Given the description of an element on the screen output the (x, y) to click on. 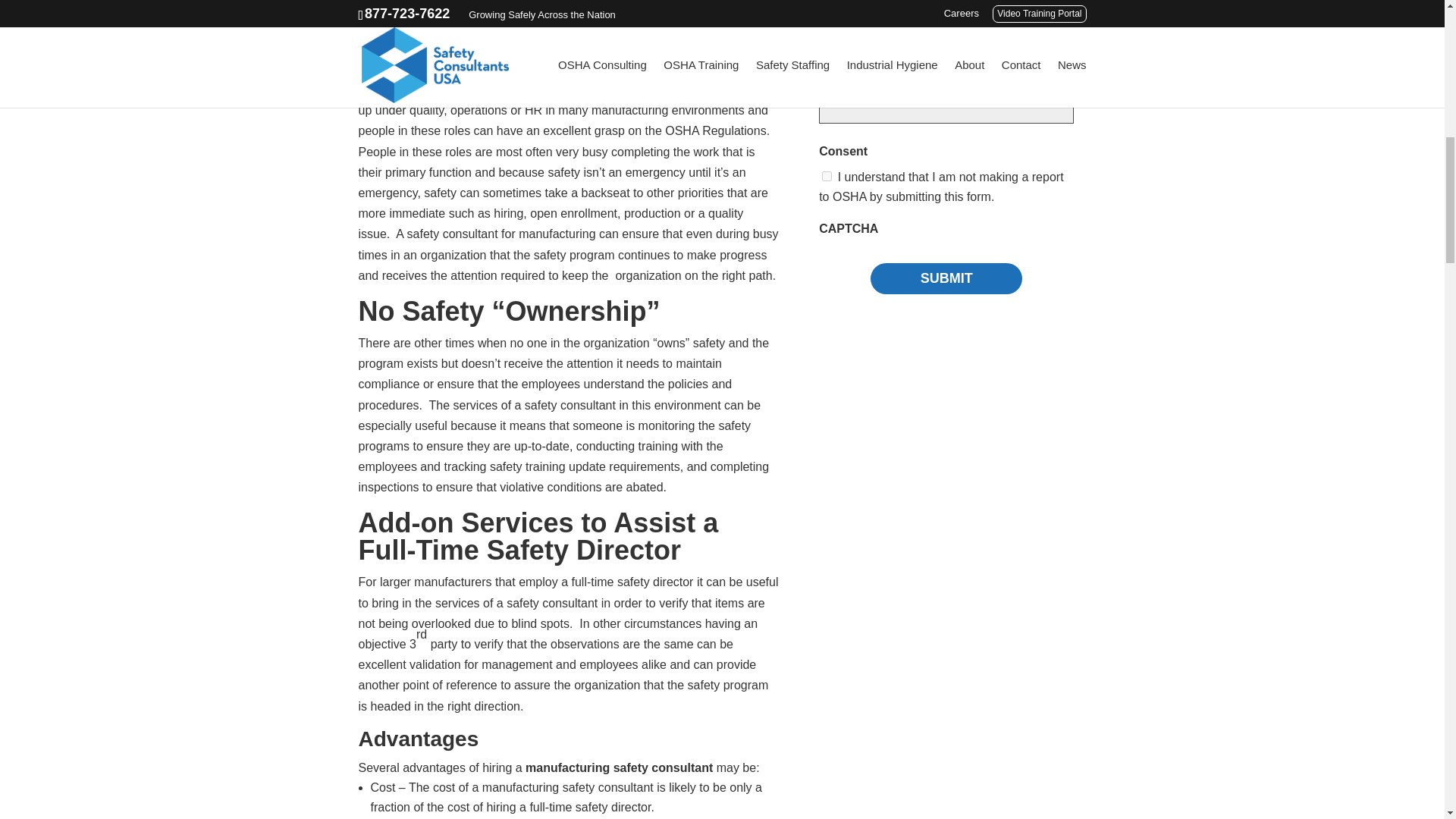
1 (826, 175)
SUBMIT (946, 278)
SUBMIT (946, 278)
